Given the description of an element on the screen output the (x, y) to click on. 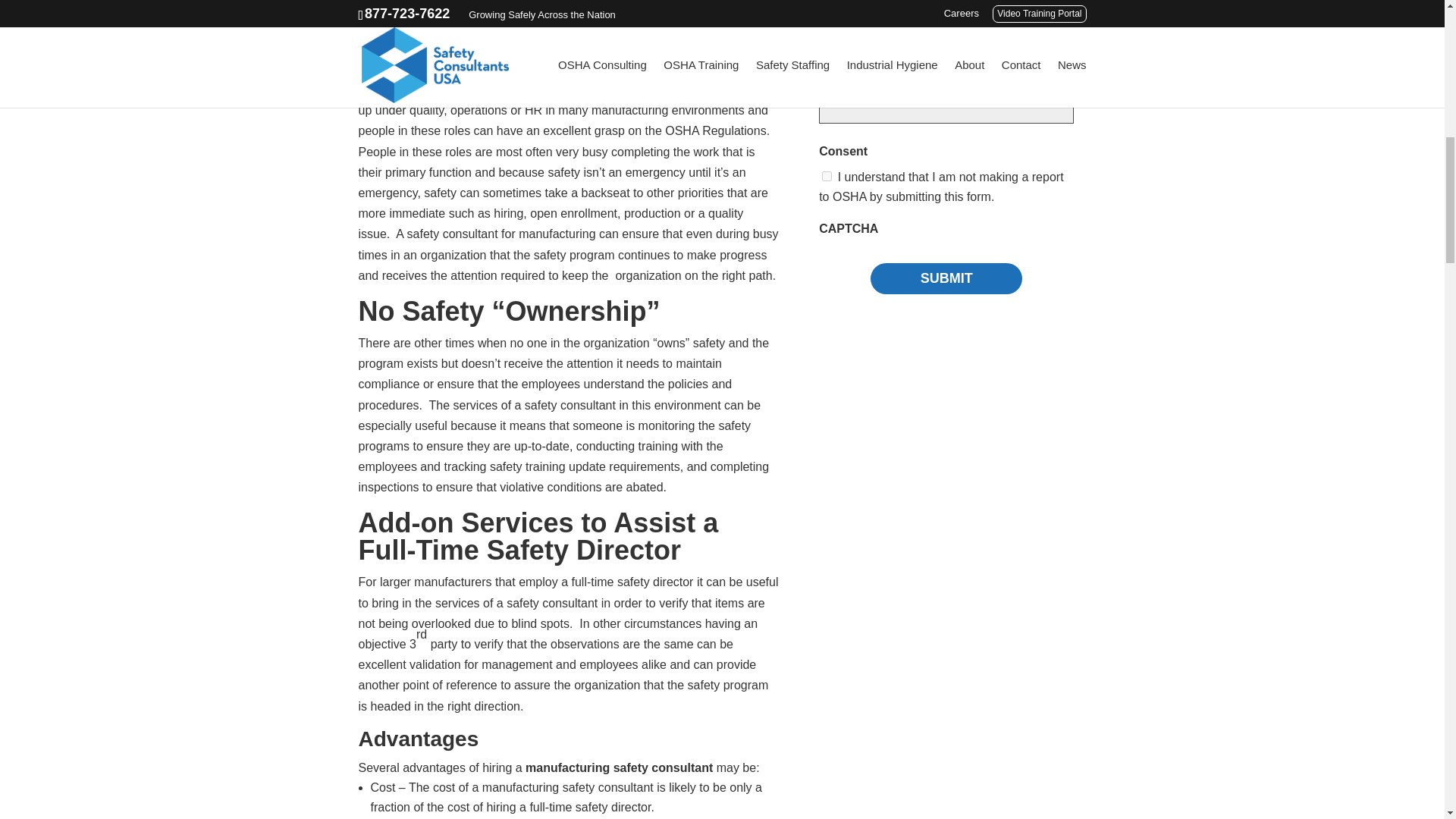
1 (826, 175)
SUBMIT (946, 278)
SUBMIT (946, 278)
